Given the description of an element on the screen output the (x, y) to click on. 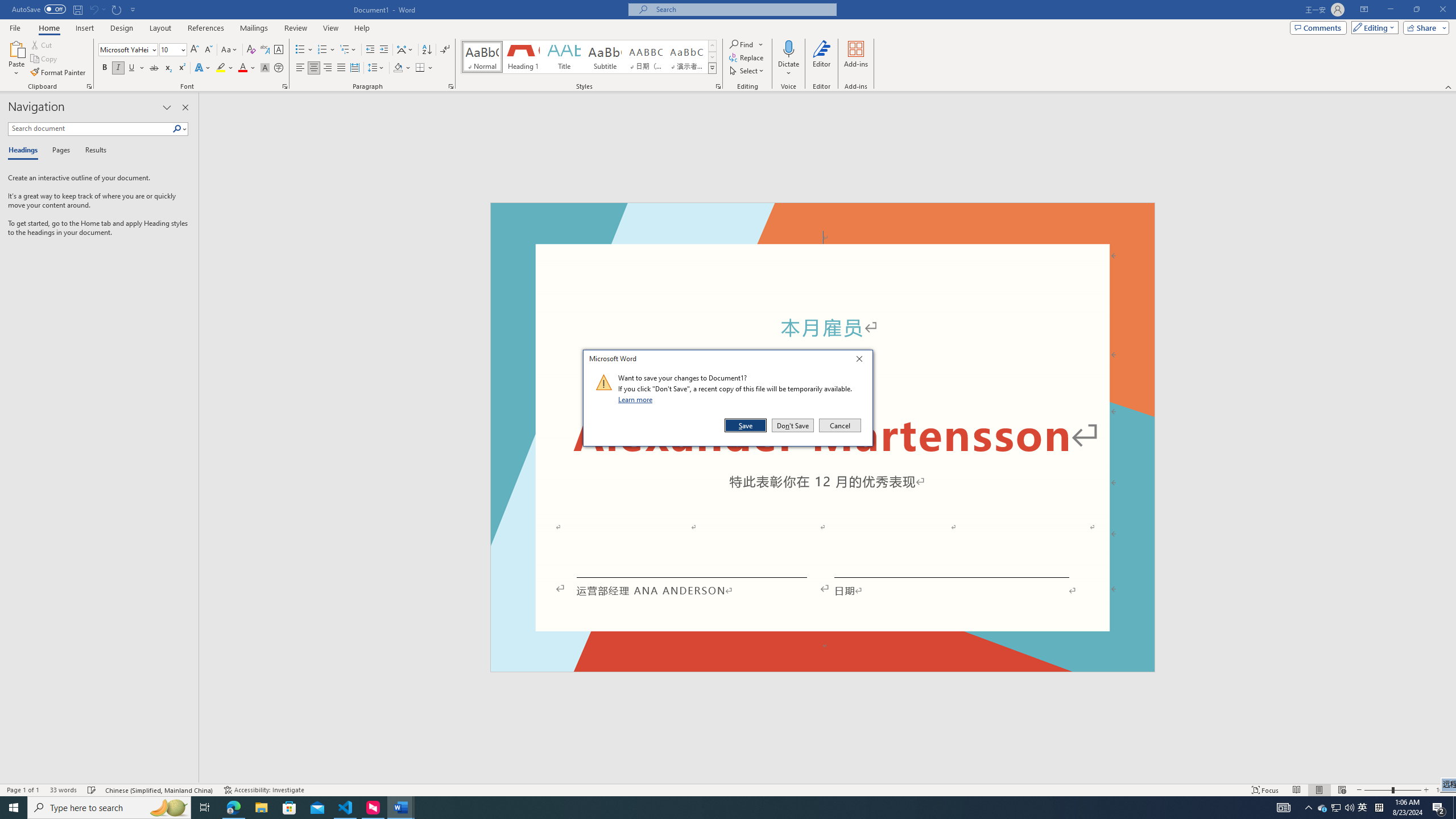
Shrink Font (208, 49)
Microsoft Edge - 1 running window (233, 807)
Q2790: 100% (1335, 807)
Paragraph... (1349, 807)
Subscript (450, 85)
AutomationID: QuickStylesGallery (167, 67)
